Given the description of an element on the screen output the (x, y) to click on. 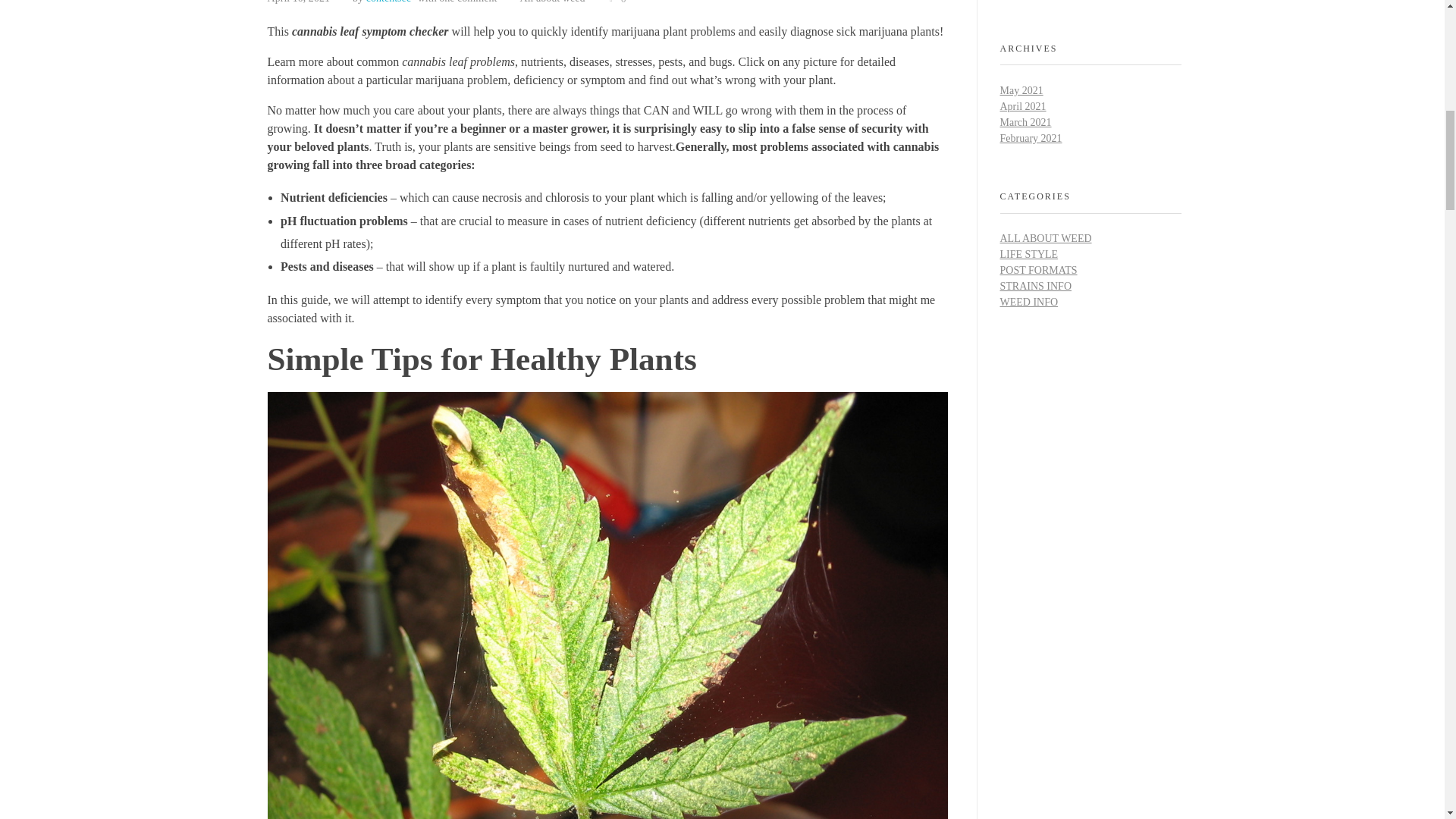
View all posts by contentsec (388, 2)
Search (1165, 5)
All about weed (552, 2)
contentsec (388, 2)
View all posts in All about weed (552, 2)
Search (1165, 5)
